Given the description of an element on the screen output the (x, y) to click on. 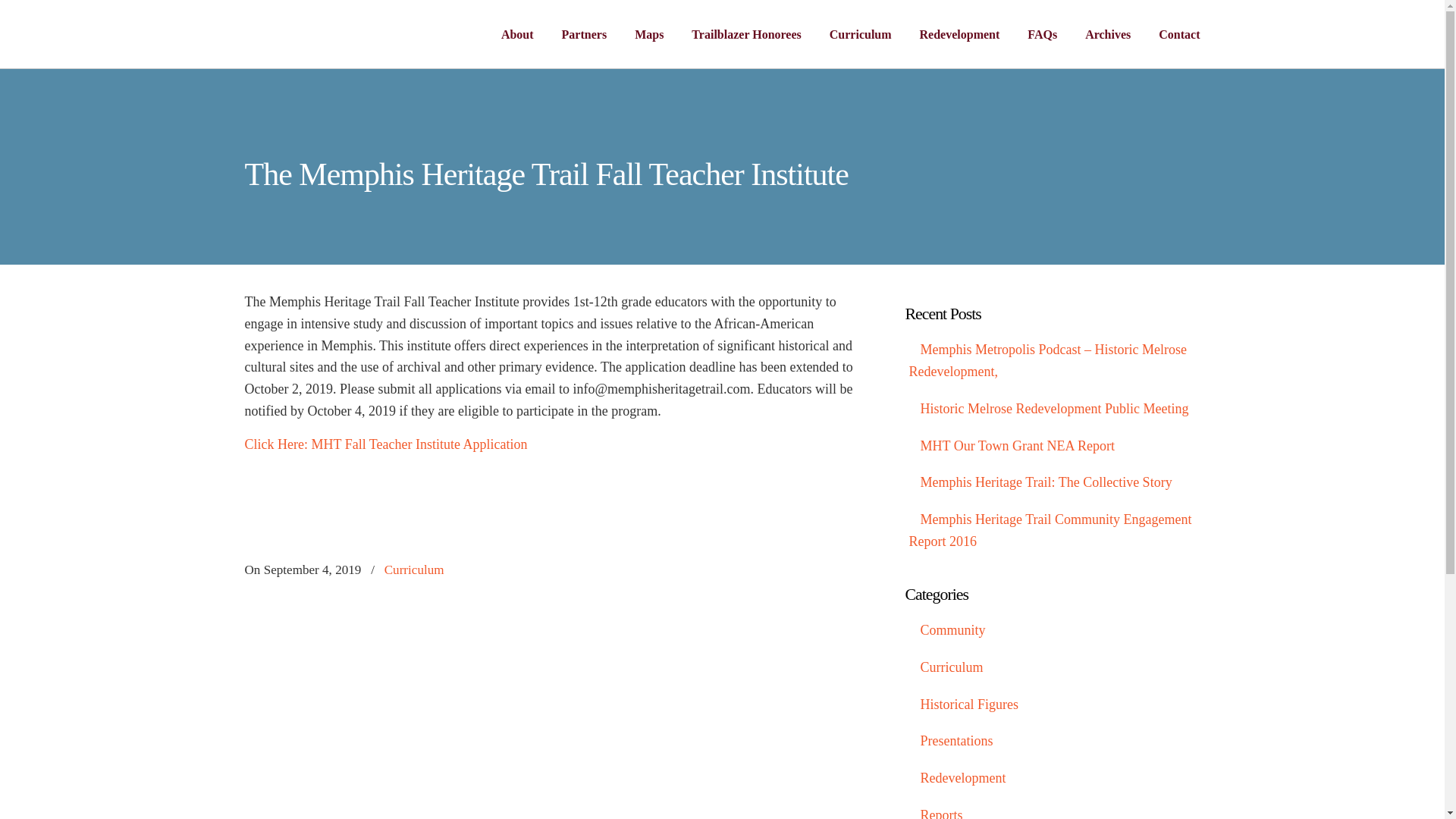
Community (1052, 630)
Contact (1178, 34)
Partners (585, 34)
Memphis Heritage Trail Community Engagement Report 2016 (1052, 530)
Historic Melrose Redevelopment Public Meeting (1052, 408)
Maps (649, 34)
Trailblazer Honorees (746, 34)
Redevelopment (1052, 778)
Redevelopment (959, 34)
Archives (1107, 34)
